Given the description of an element on the screen output the (x, y) to click on. 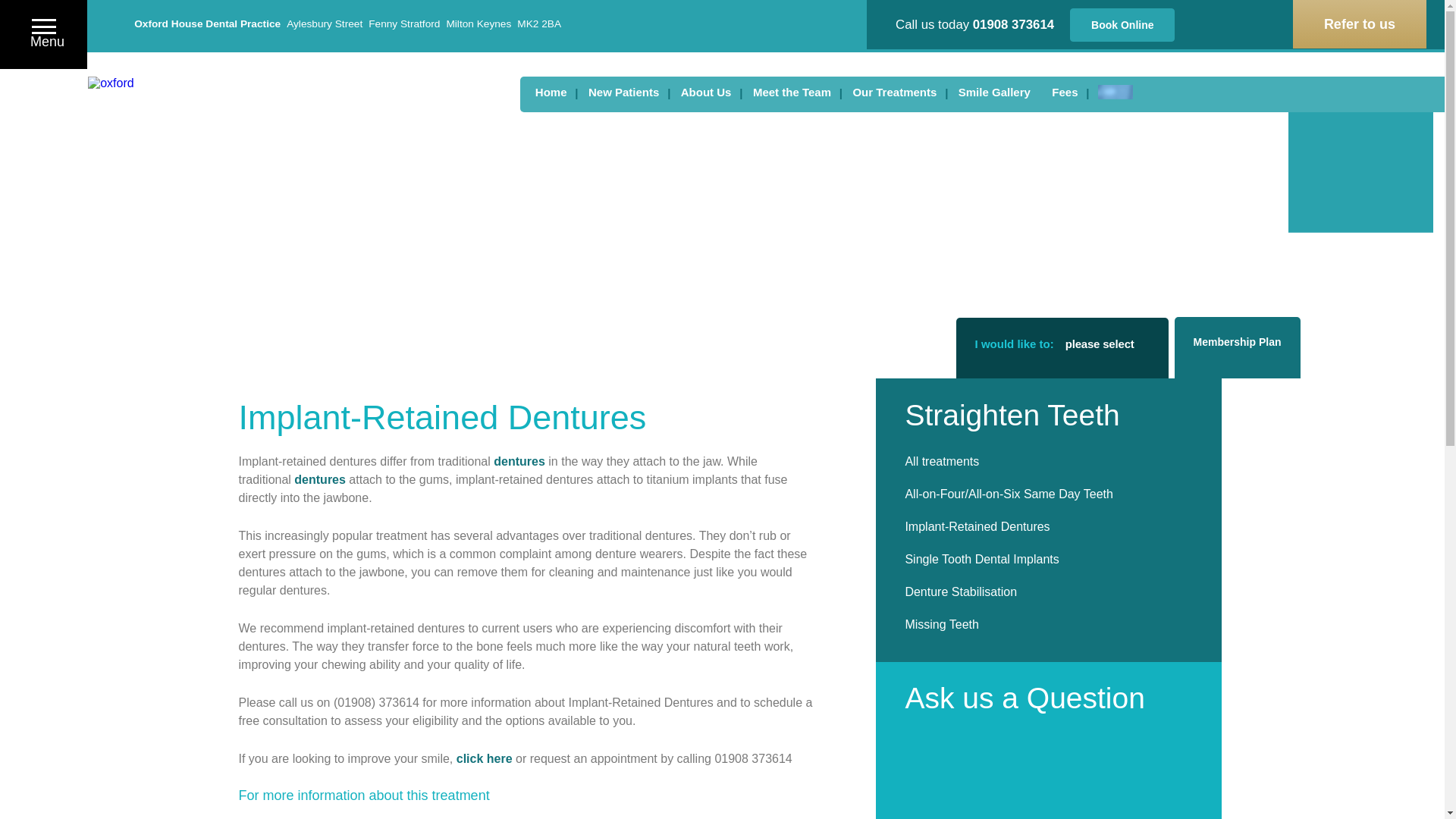
Book Online (1122, 23)
Menu (43, 33)
Refer to us (1358, 24)
Our Treatments (893, 91)
Smile Gallery (994, 91)
01908 373614 (1013, 23)
About Us (706, 91)
New Patients (623, 91)
Fees (1064, 91)
Meet the Team (792, 91)
